Given the description of an element on the screen output the (x, y) to click on. 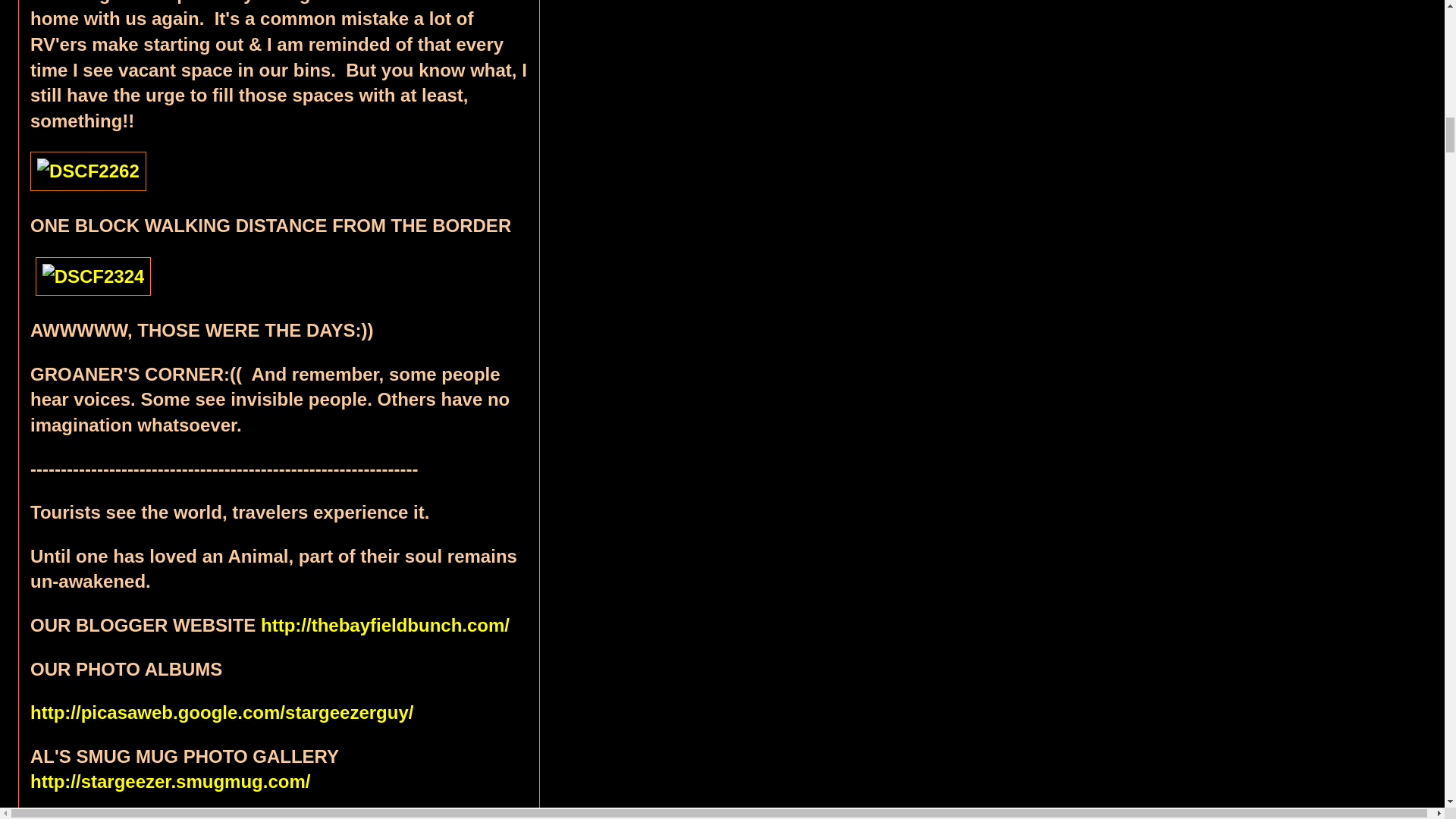
DSCF2324 (92, 276)
DSCF2262 (88, 170)
